Given the description of an element on the screen output the (x, y) to click on. 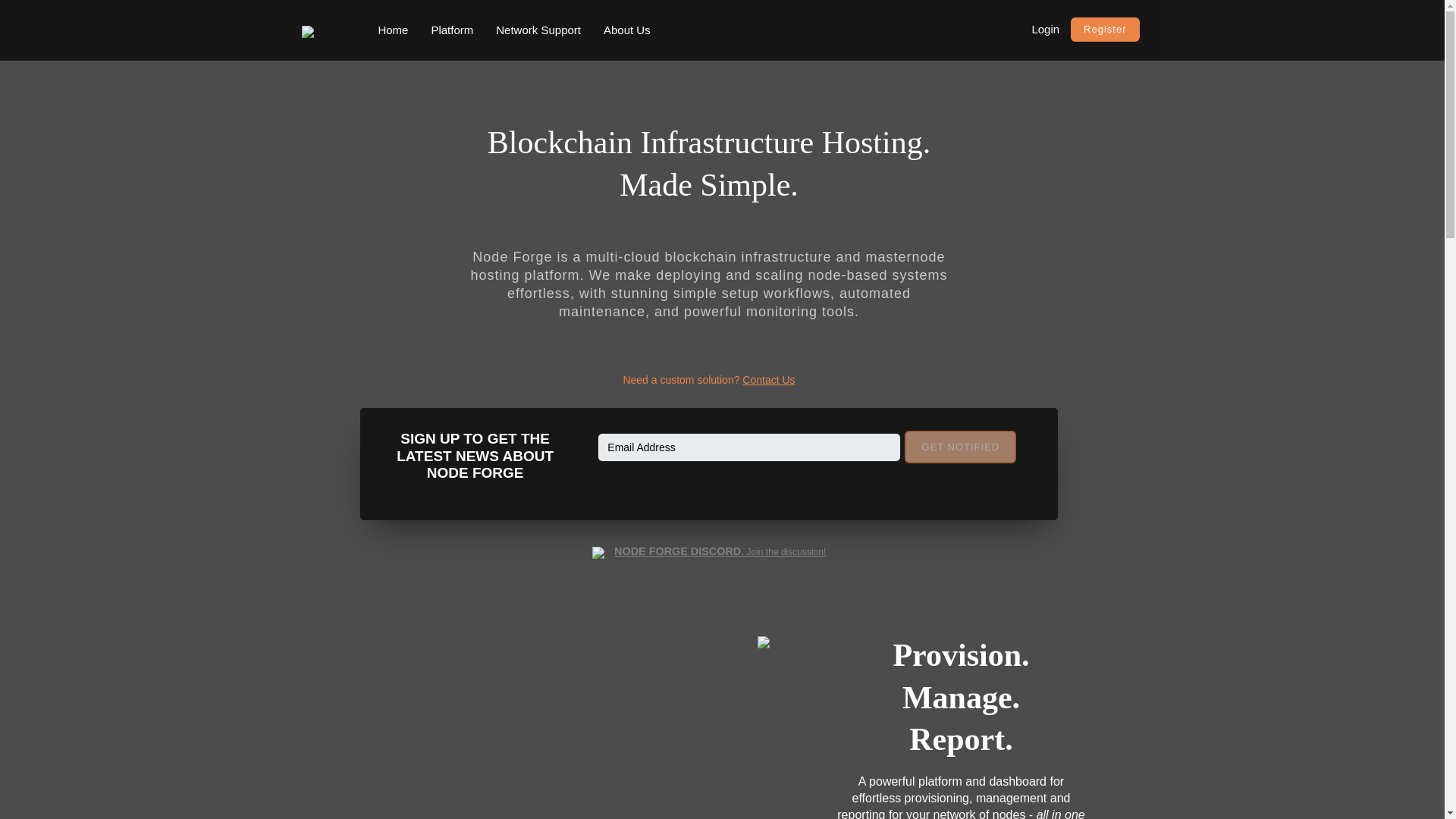
Platform (451, 29)
Contact Us (768, 379)
Register (1104, 29)
Login (1045, 29)
Home (392, 29)
GET NOTIFIED (960, 447)
About Us (627, 29)
Network Support (538, 29)
NODE FORGE DISCORD. Join the discussion! (709, 552)
